Given the description of an element on the screen output the (x, y) to click on. 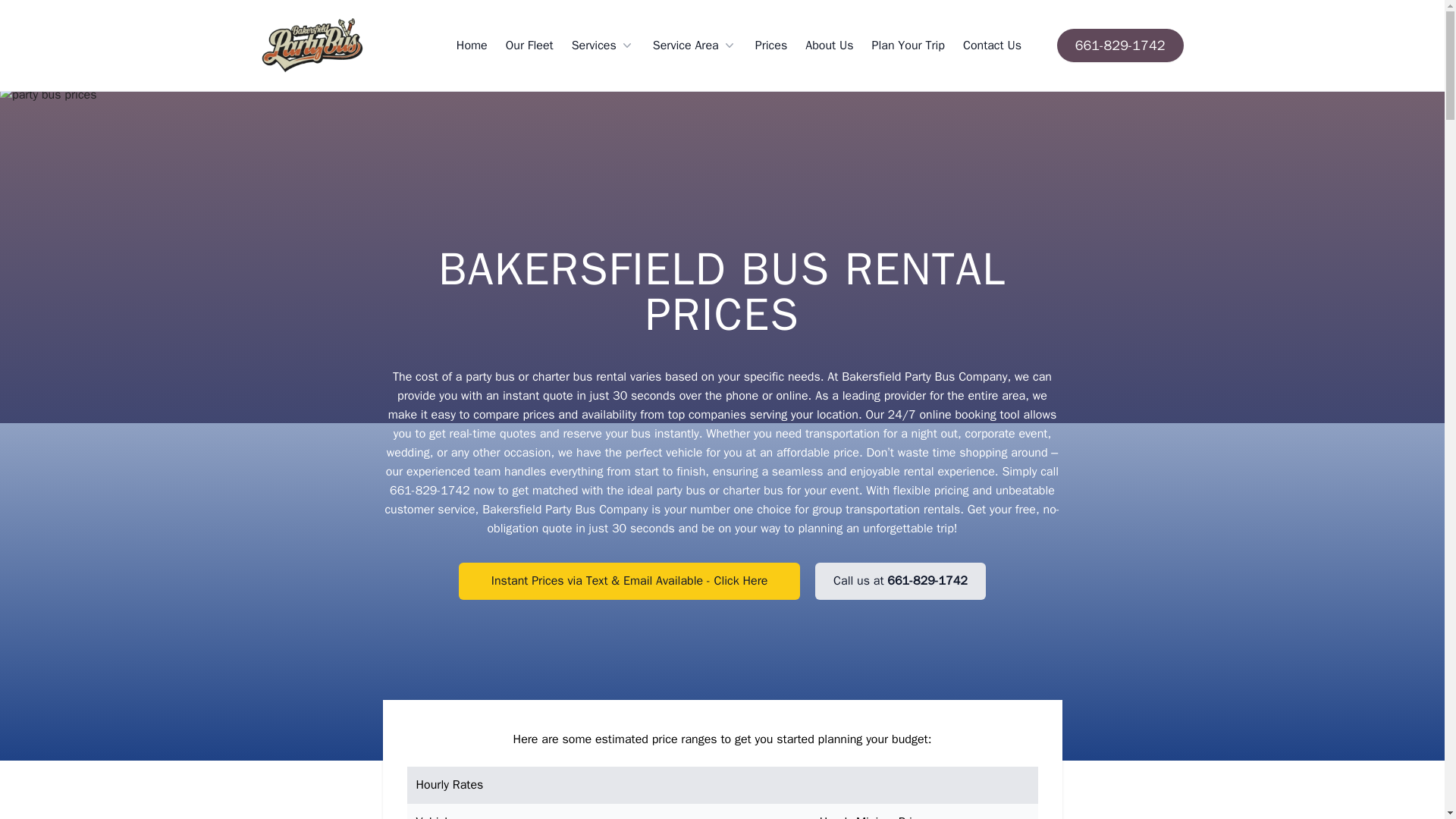
Home (472, 45)
Service Area (694, 45)
Services (603, 45)
Bakersfield Party Bus Company (312, 44)
Prices (771, 45)
Our Fleet (529, 45)
